Given the description of an element on the screen output the (x, y) to click on. 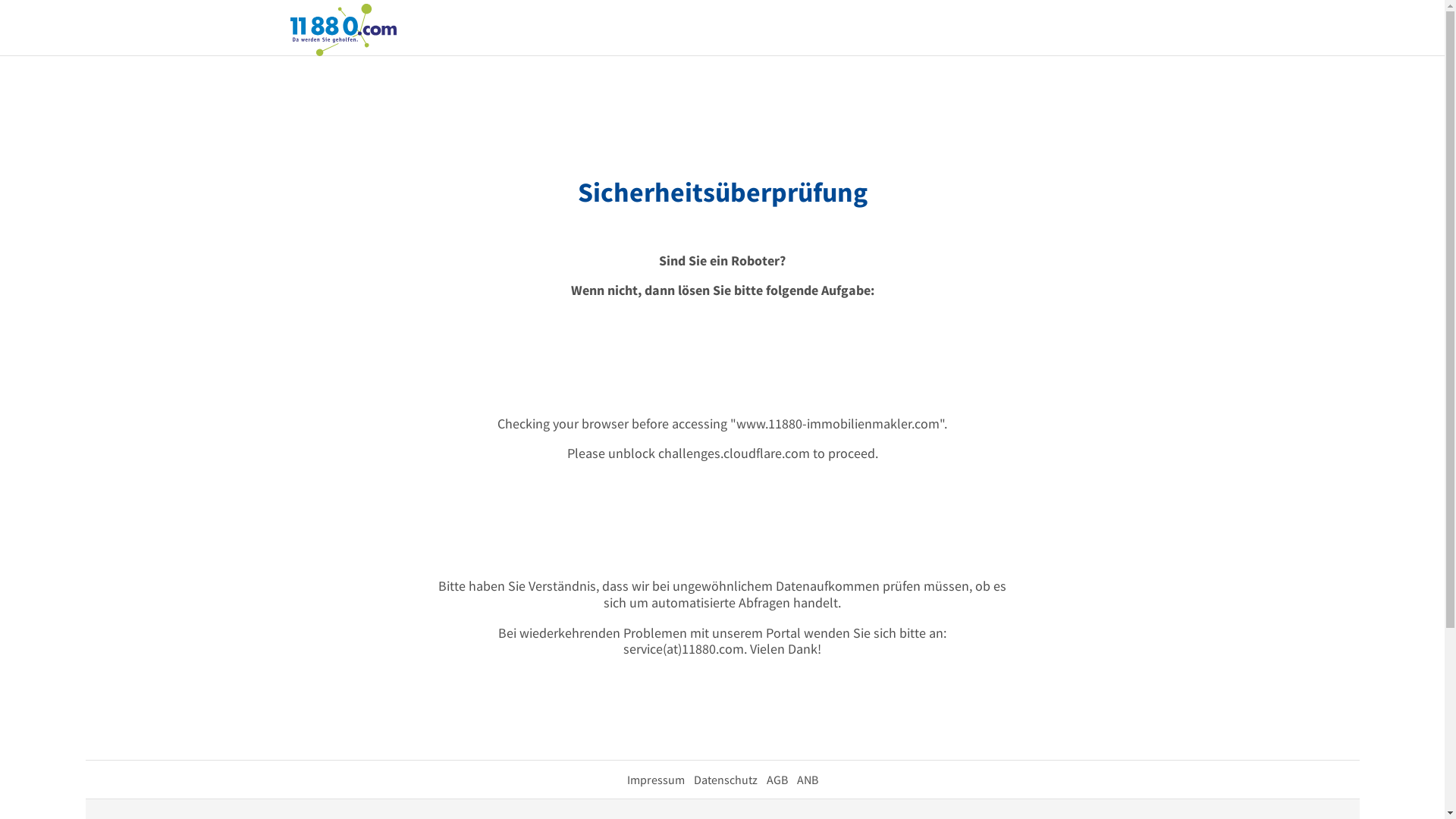
AGB Element type: text (776, 779)
ANB Element type: text (806, 779)
11880.com Element type: hover (342, 28)
Impressum Element type: text (655, 779)
Datenschutz Element type: text (724, 779)
